Given the description of an element on the screen output the (x, y) to click on. 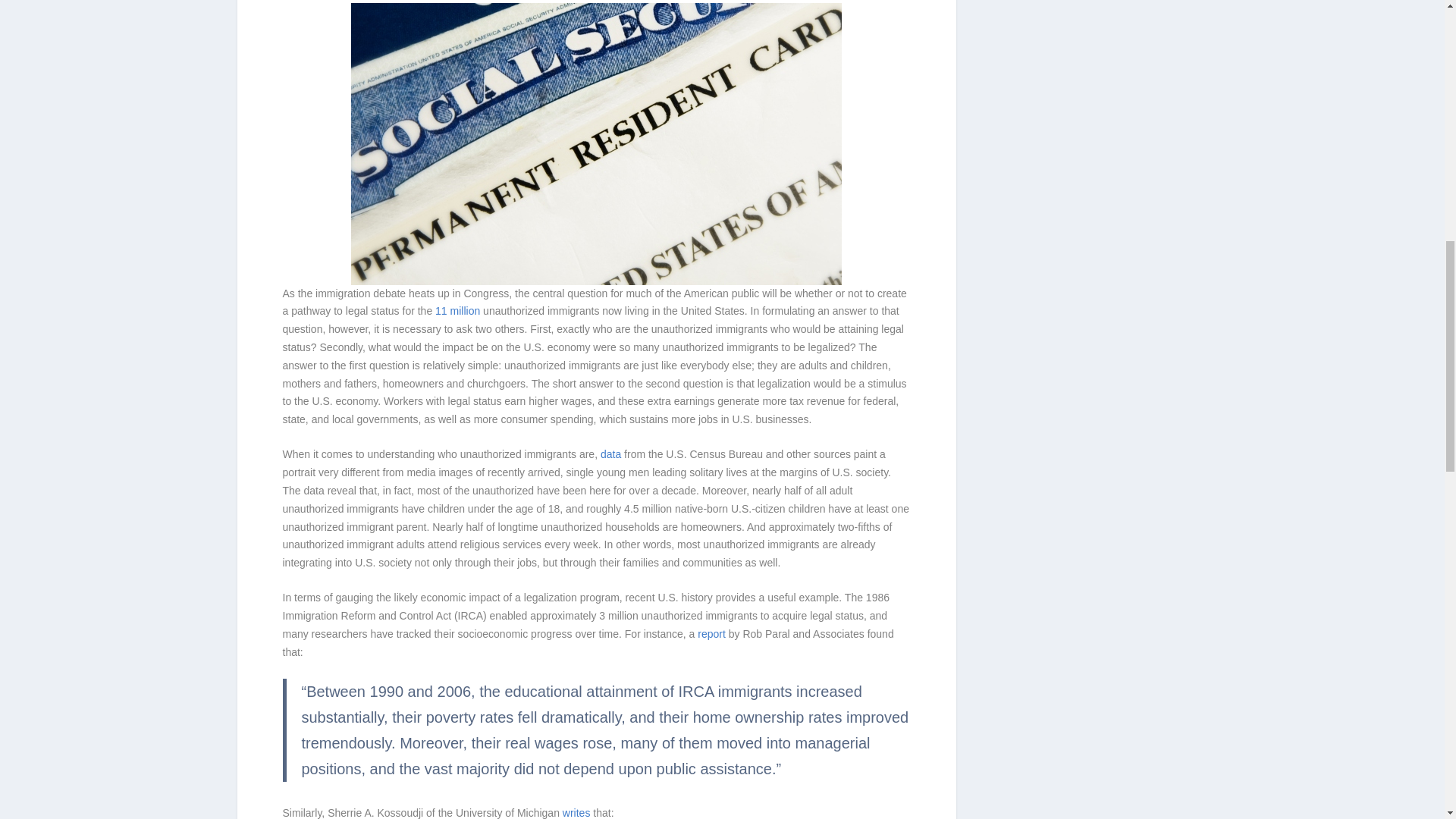
11 million (457, 310)
writes (576, 812)
data (610, 453)
report (711, 633)
